Given the description of an element on the screen output the (x, y) to click on. 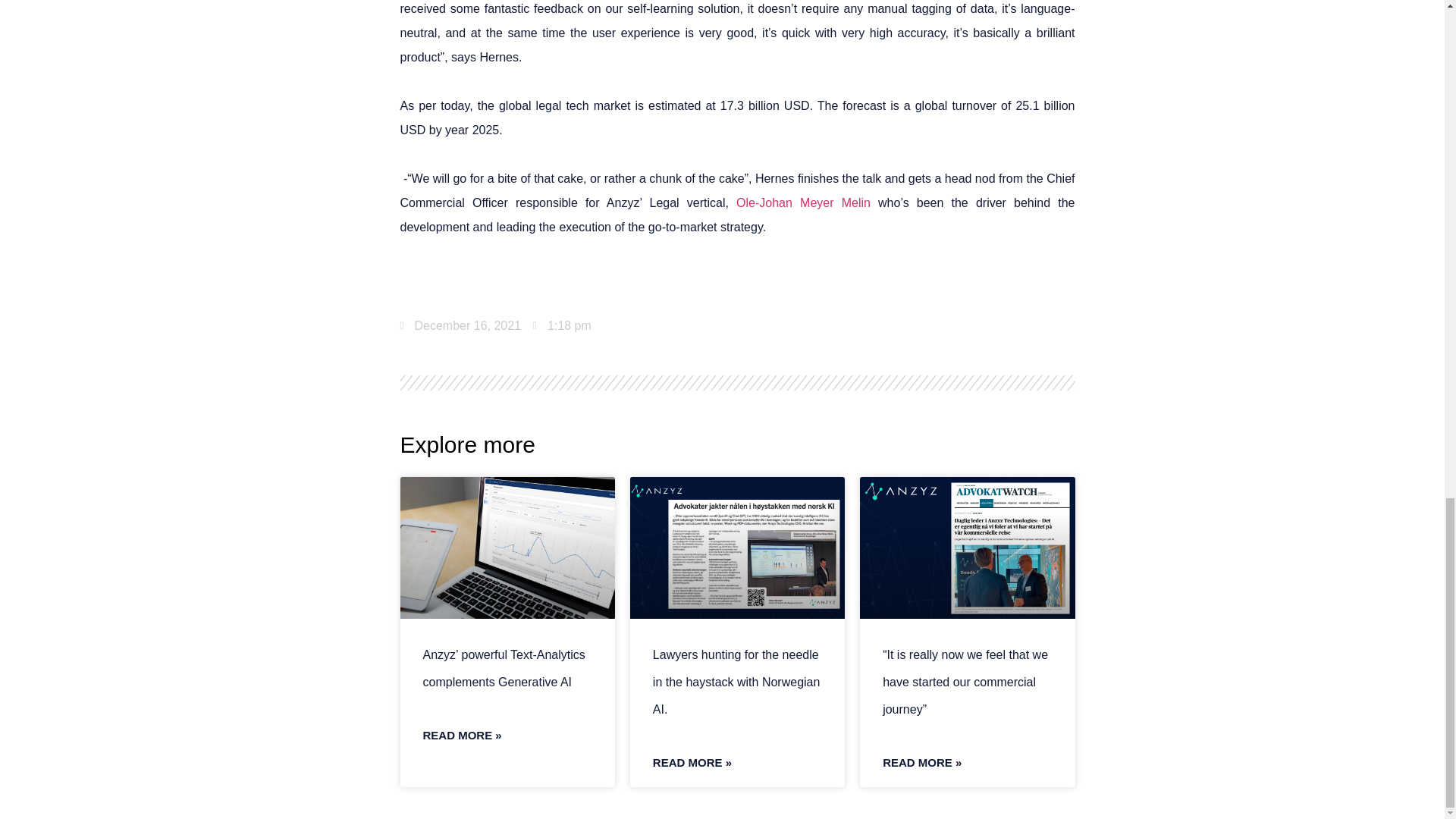
December 16, 2021 (460, 325)
Ole-Johan Meyer Melin (803, 202)
